Given the description of an element on the screen output the (x, y) to click on. 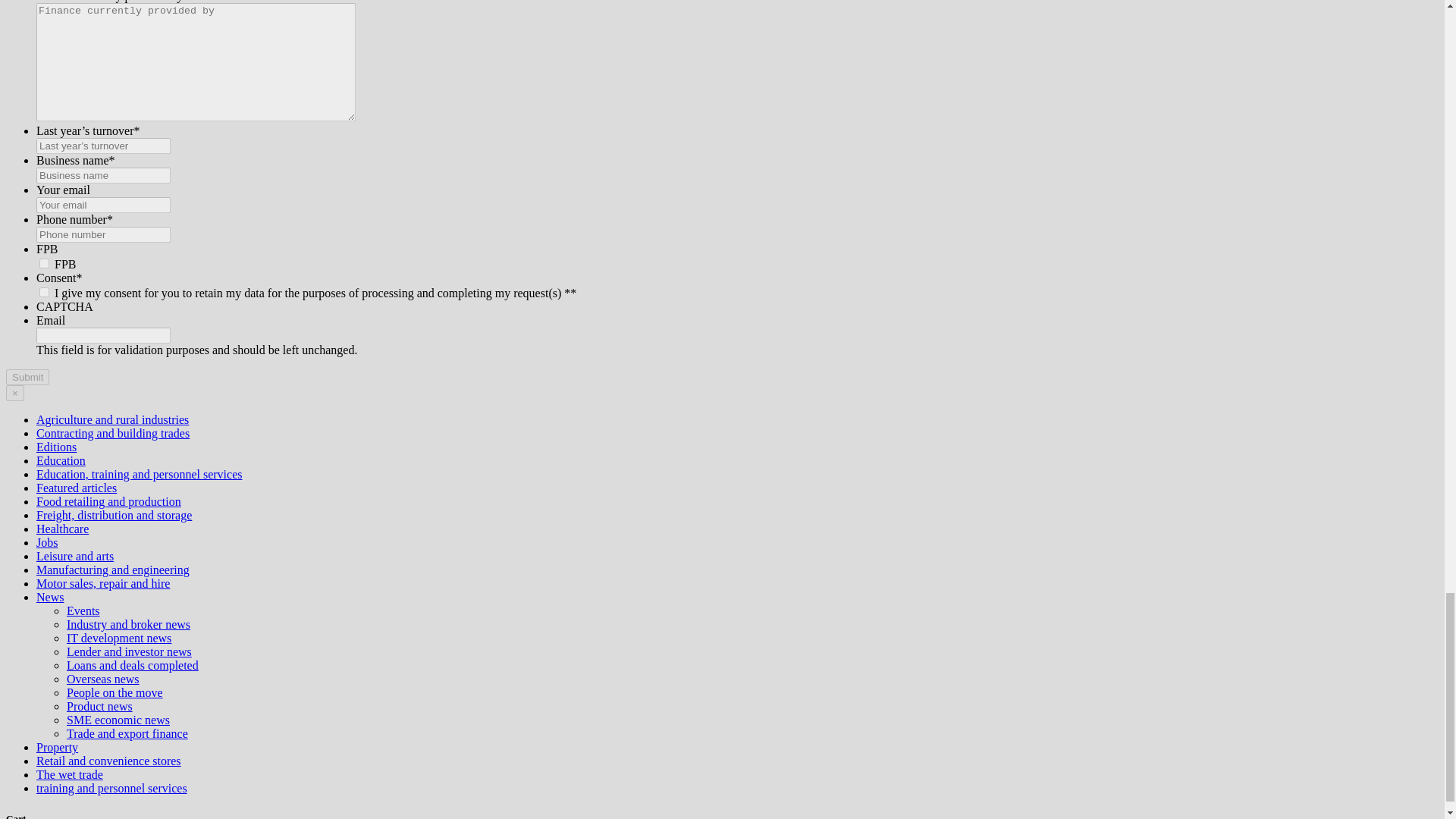
1 (44, 292)
1 (44, 263)
Submit (27, 376)
